Given the description of an element on the screen output the (x, y) to click on. 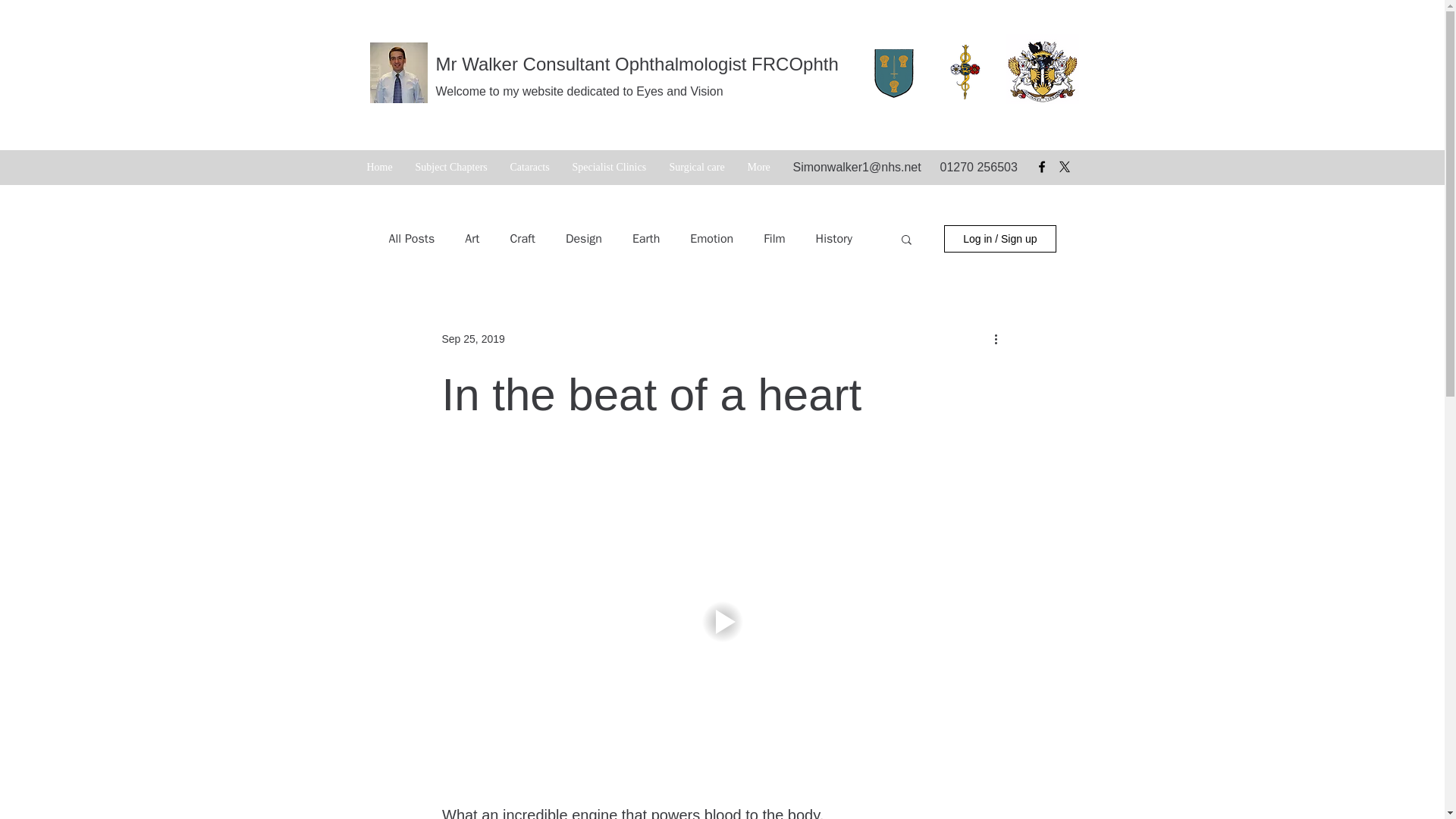
Cataracts (529, 167)
Subject Chapters (450, 167)
Specialist Clinics (609, 167)
Surgical care (697, 167)
Home (379, 167)
Royal College of Ophthalmologists' Crest (1042, 69)
Sep 25, 2019 (472, 337)
